Given the description of an element on the screen output the (x, y) to click on. 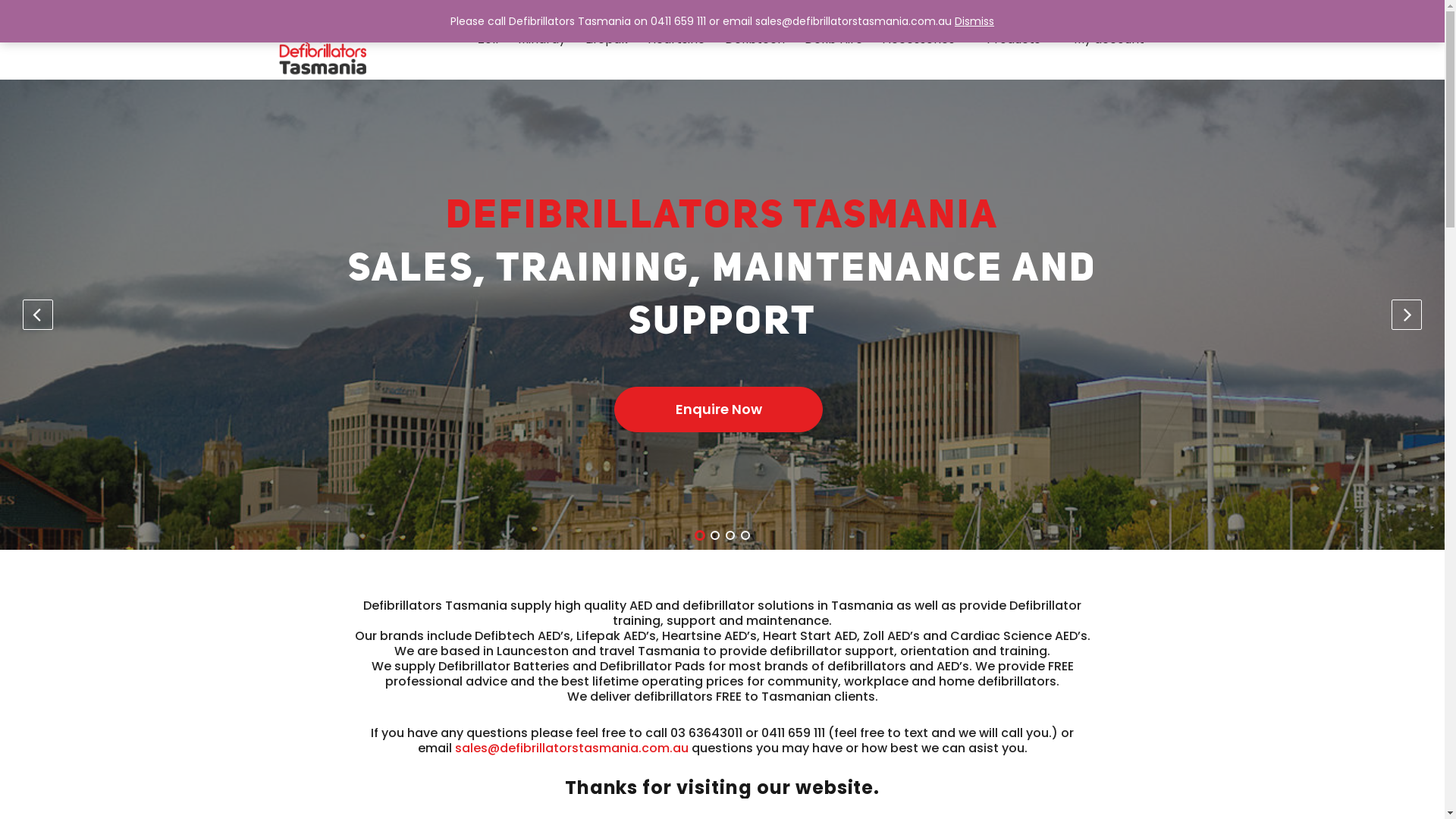
Products Element type: text (1013, 39)
Enquire Now Element type: text (718, 409)
Accessories Element type: text (924, 39)
Heartsine Element type: text (676, 39)
Dismiss Element type: text (974, 20)
Defib Hire Element type: text (833, 39)
Defibtech Element type: text (754, 39)
My account Element type: text (1114, 39)
Zoll Element type: text (487, 39)
Lifepak Element type: text (606, 39)
Mindray Element type: text (541, 39)
sales@defibrillatorstasmania.com.au Element type: text (571, 747)
